Given the description of an element on the screen output the (x, y) to click on. 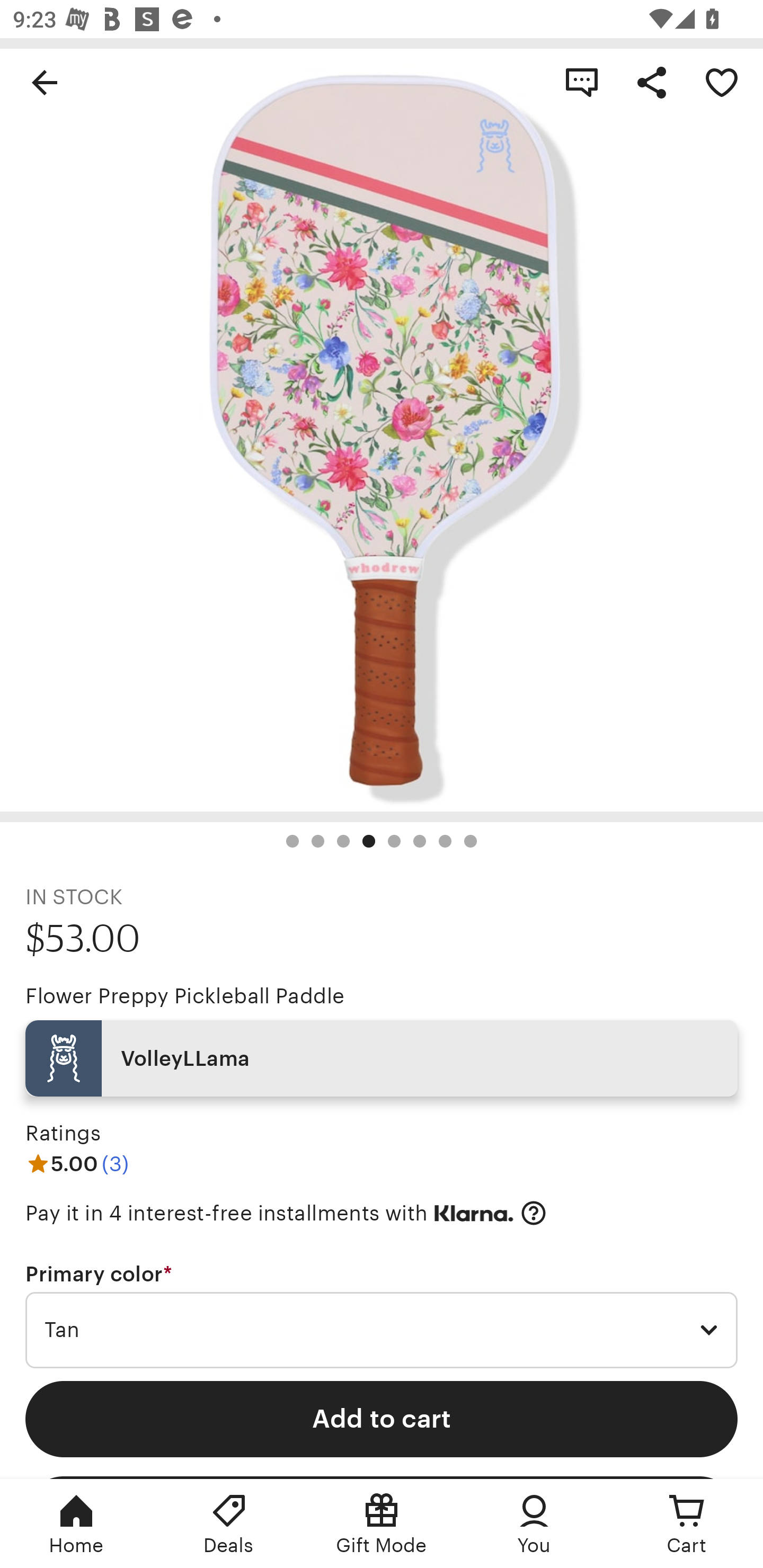
Navigate up (44, 81)
Contact shop (581, 81)
Share (651, 81)
Flower Preppy Pickleball Paddle (184, 996)
VolleyLLama (381, 1058)
Ratings (62, 1133)
5.00 (3) (76, 1163)
Primary color * Required Tan (381, 1315)
Tan (381, 1330)
Add to cart (381, 1418)
Deals (228, 1523)
Gift Mode (381, 1523)
You (533, 1523)
Cart (686, 1523)
